Given the description of an element on the screen output the (x, y) to click on. 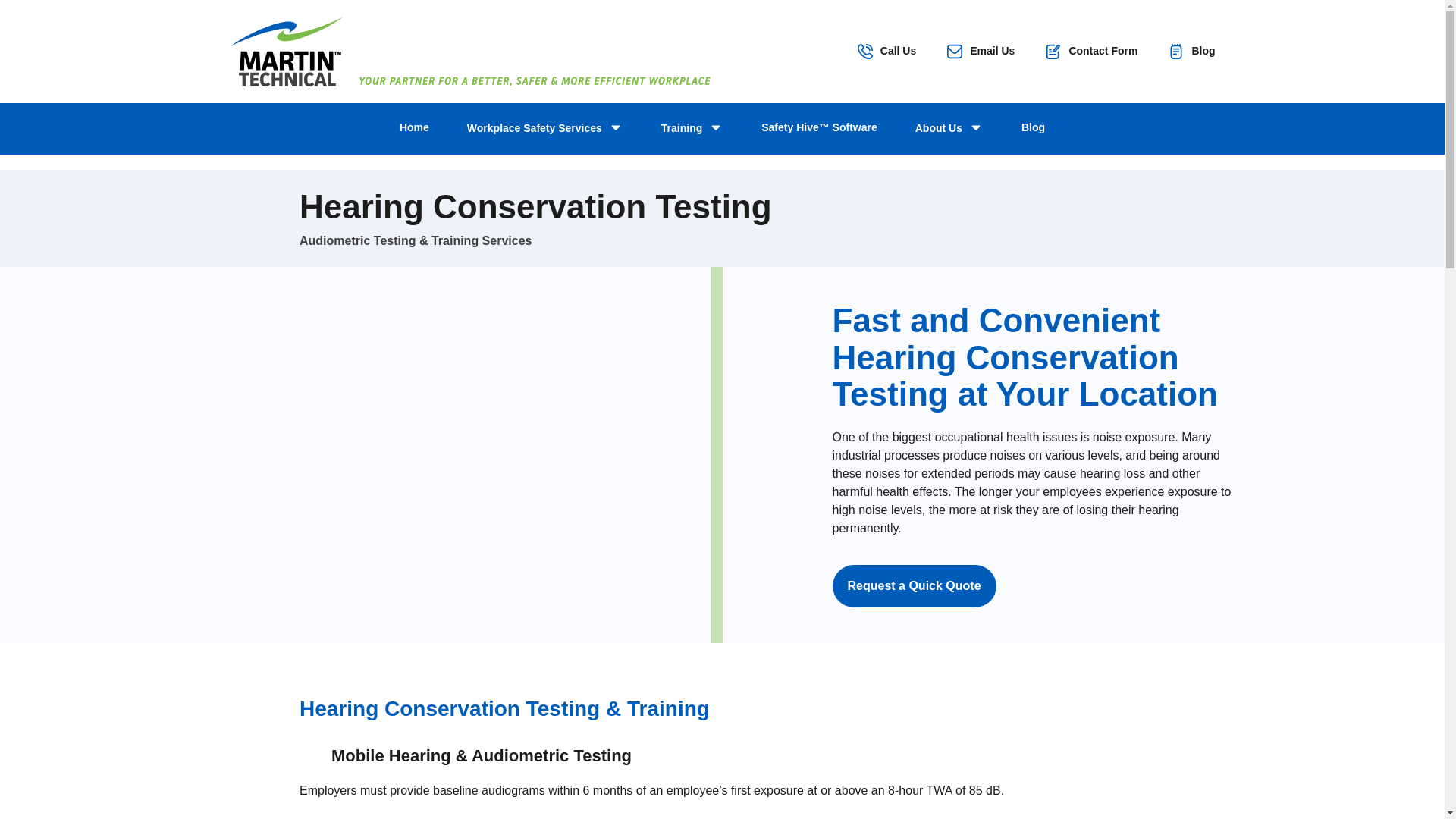
Training (692, 128)
Call Us (886, 51)
Workplace Safety Services (545, 128)
Email Us (980, 51)
Martin Technical (285, 51)
Contact Form (1091, 51)
About Us (949, 128)
Blog (1191, 51)
